Given the description of an element on the screen output the (x, y) to click on. 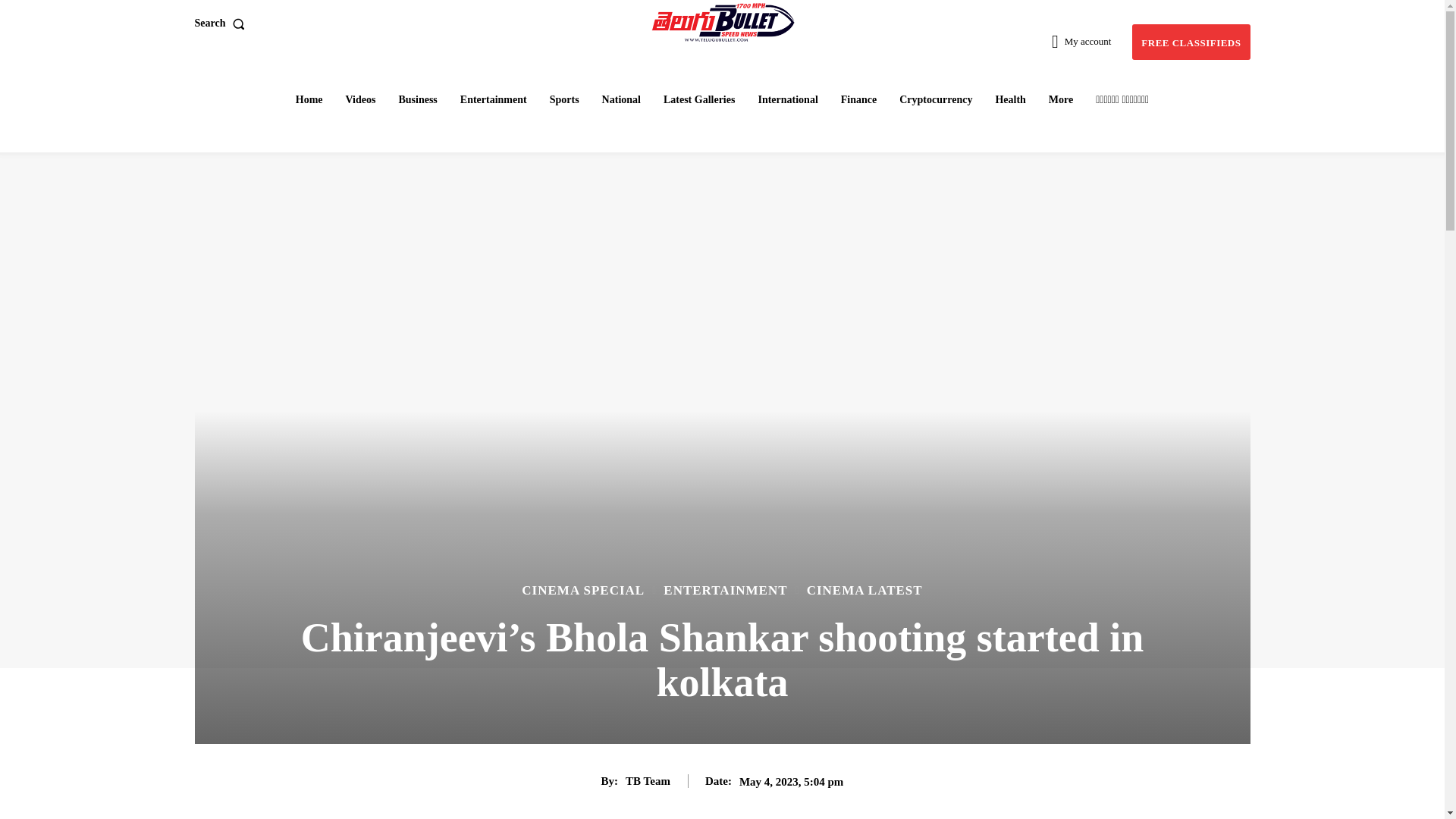
FREE CLASSIFIEDS (1190, 41)
Latest Galleries (699, 99)
Search (221, 23)
Entertainment (493, 99)
Sports (563, 99)
Home (309, 99)
Videos (360, 99)
National (620, 99)
International (787, 99)
Business (417, 99)
